Given the description of an element on the screen output the (x, y) to click on. 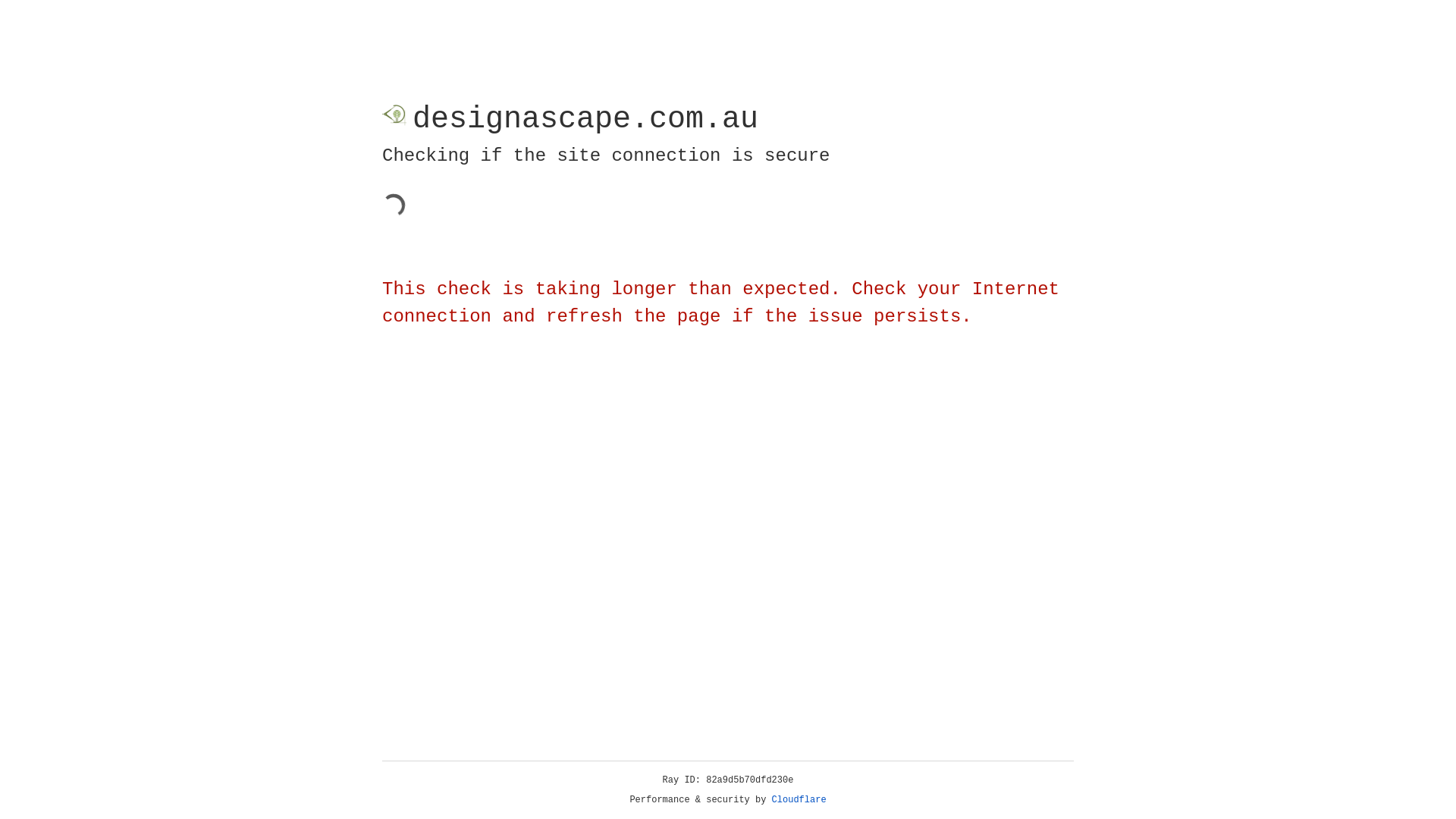
Cloudflare Element type: text (798, 799)
